Given the description of an element on the screen output the (x, y) to click on. 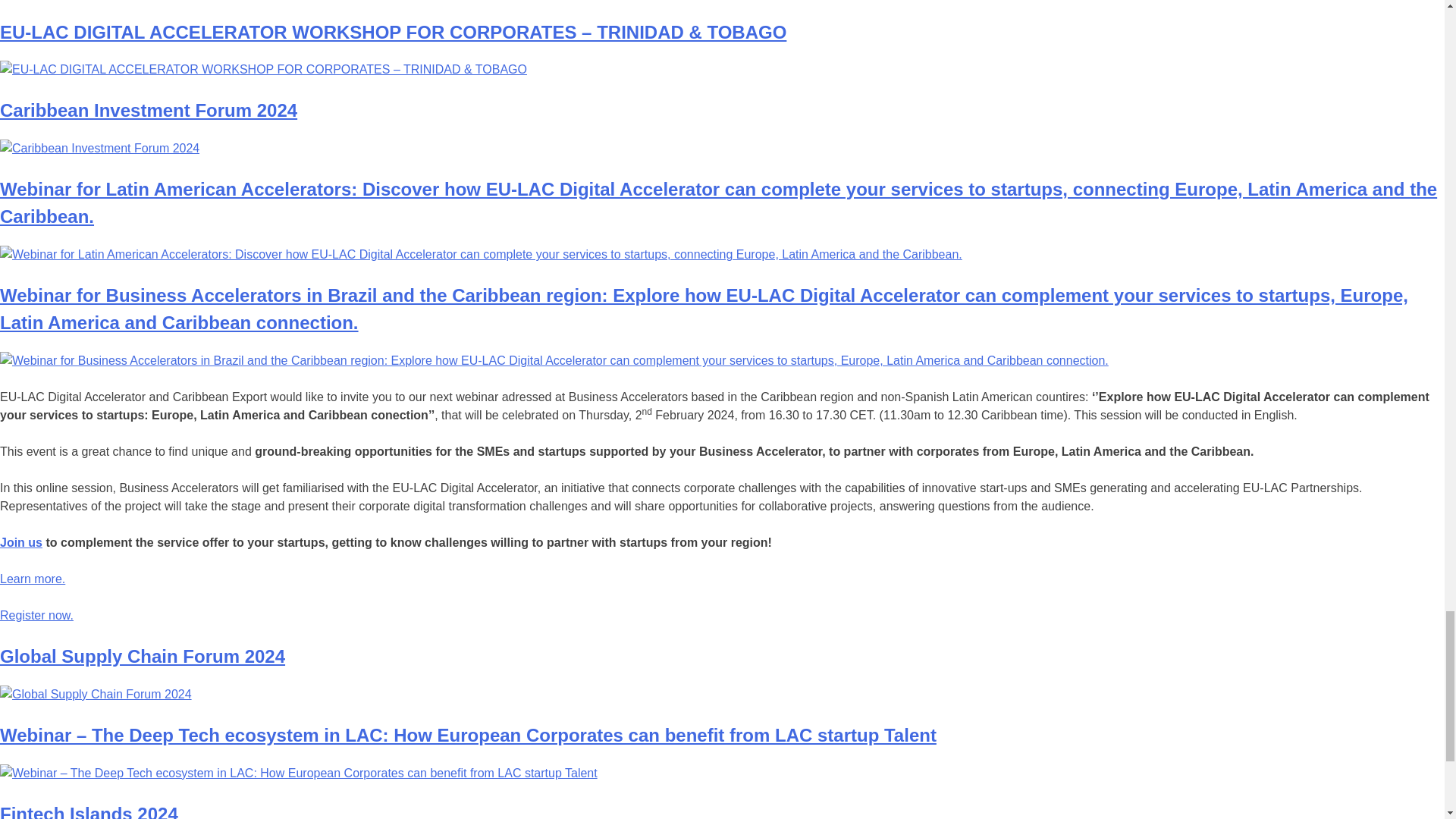
Join us (21, 542)
Learn more. (32, 578)
Global Supply Chain Forum 2024 (142, 656)
Register now. (37, 615)
Caribbean Investment Forum 2024 (148, 109)
